Given the description of an element on the screen output the (x, y) to click on. 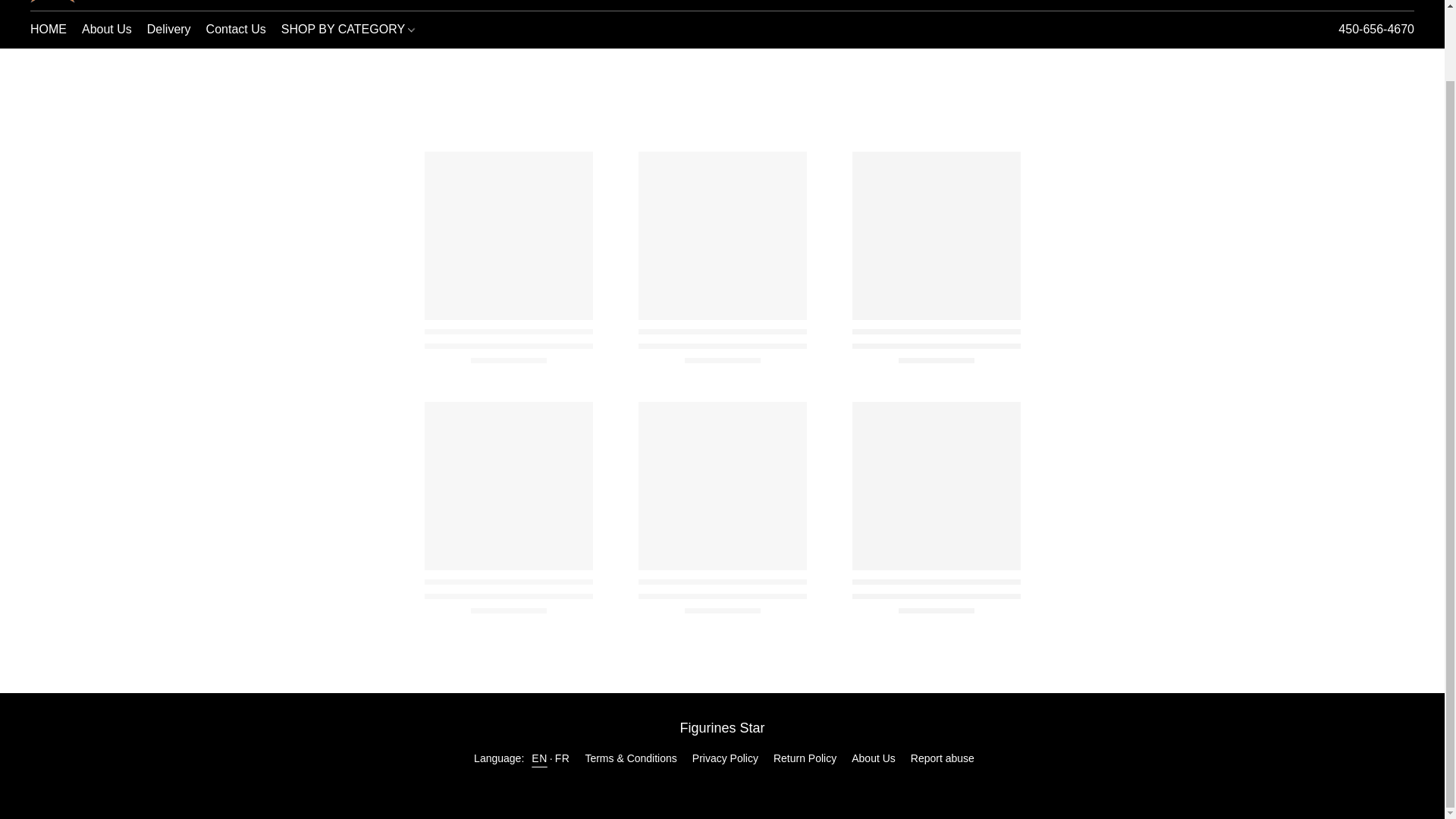
Privacy Policy (725, 758)
Return Policy (804, 758)
About Us (106, 29)
About Us (873, 758)
Report abuse (942, 758)
Go to your shopping cart (722, 785)
450-656-4670 (1404, 0)
SHOP BY CATEGORY (1375, 29)
Delivery (344, 29)
